Given the description of an element on the screen output the (x, y) to click on. 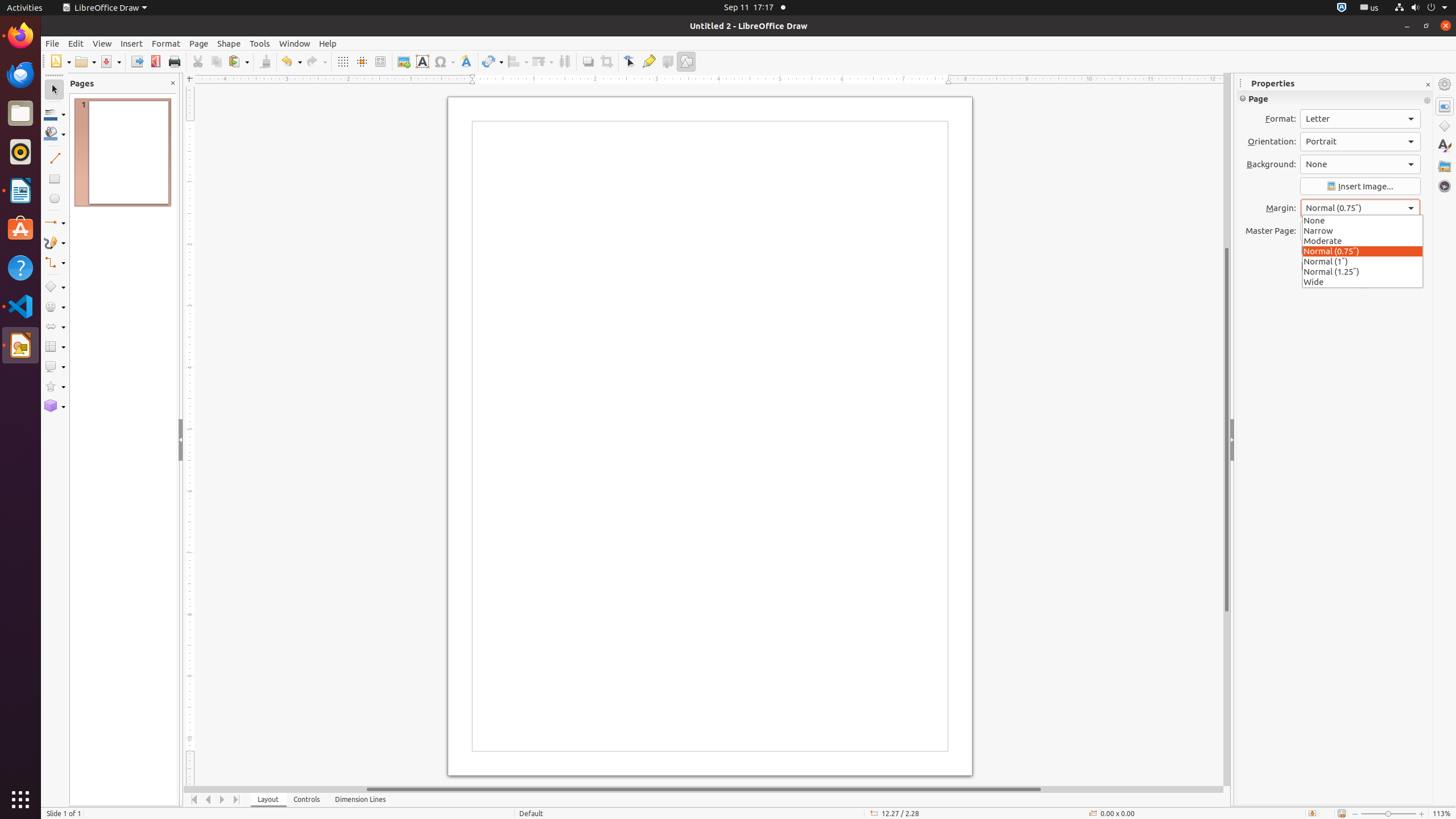
LibreOffice Draw Element type: menu (103, 7)
Close Sidebar Deck Element type: push-button (1427, 84)
Zoom & Pan Element type: push-button (379, 61)
Normal (1″) Element type: list-item (1362, 260)
Arrange Element type: push-button (542, 61)
